Given the description of an element on the screen output the (x, y) to click on. 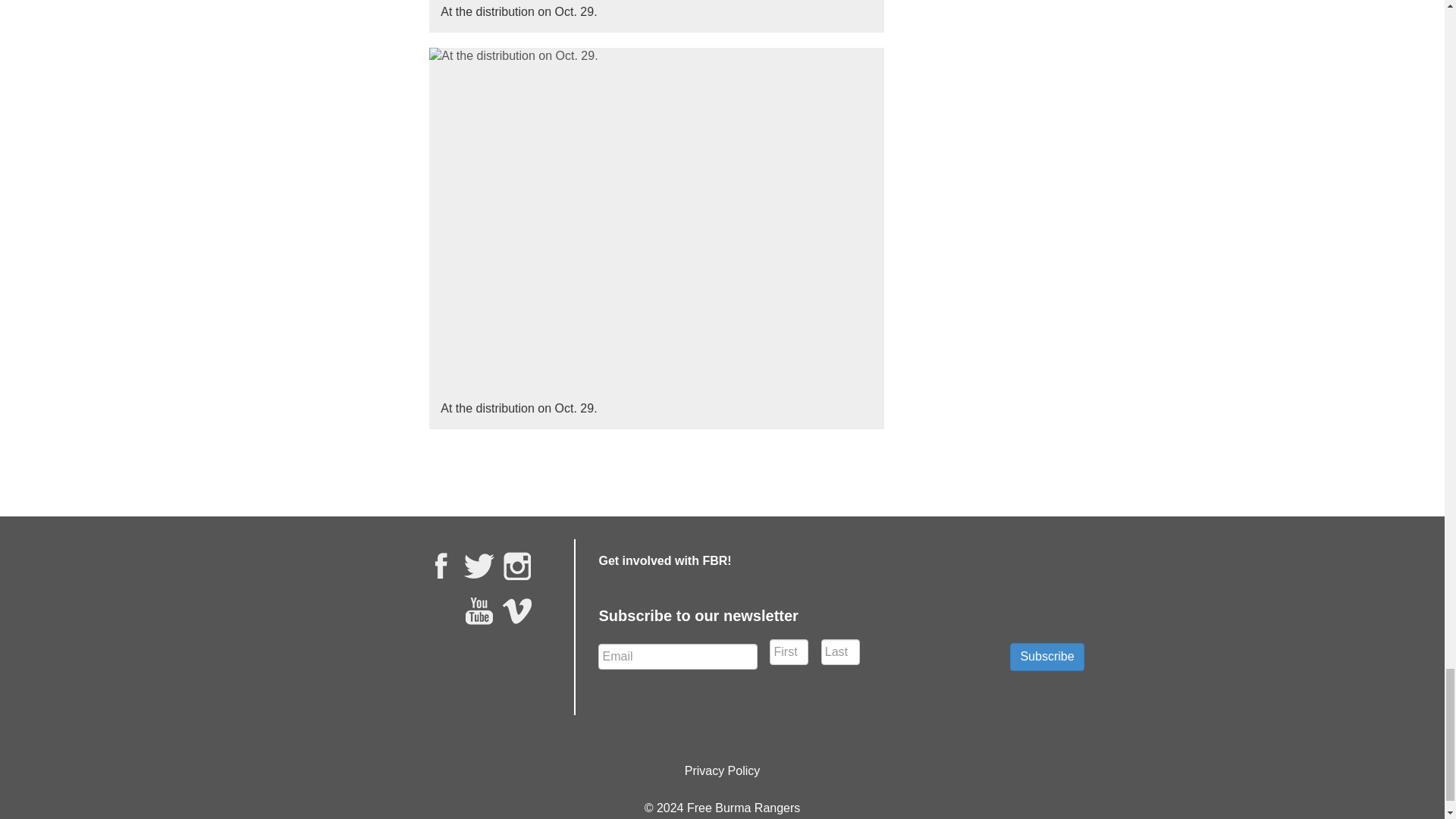
Free Burma RangersFacebook (441, 565)
Free Burma RangersVimeo (517, 611)
Subscribe (1046, 656)
Free Burma RangersYouTube (479, 611)
Free Burma RangersInstagram (517, 565)
Free Burma RangersTwitter (479, 565)
